Given the description of an element on the screen output the (x, y) to click on. 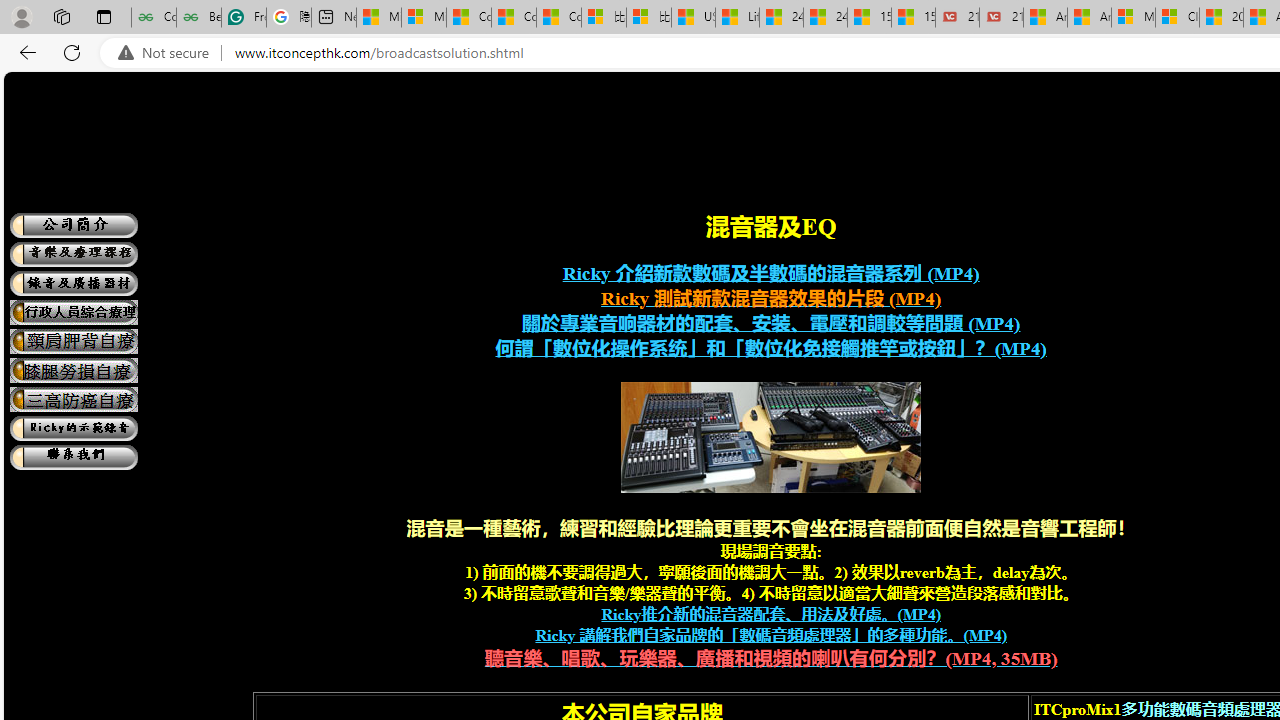
Lifestyle - MSN (737, 17)
Best SSL Certificates Provider in India - GeeksforGeeks (198, 17)
Cloud Computing Services | Microsoft Azure (1177, 17)
Complete Guide to Arrays Data Structure - GeeksforGeeks (153, 17)
